Given the description of an element on the screen output the (x, y) to click on. 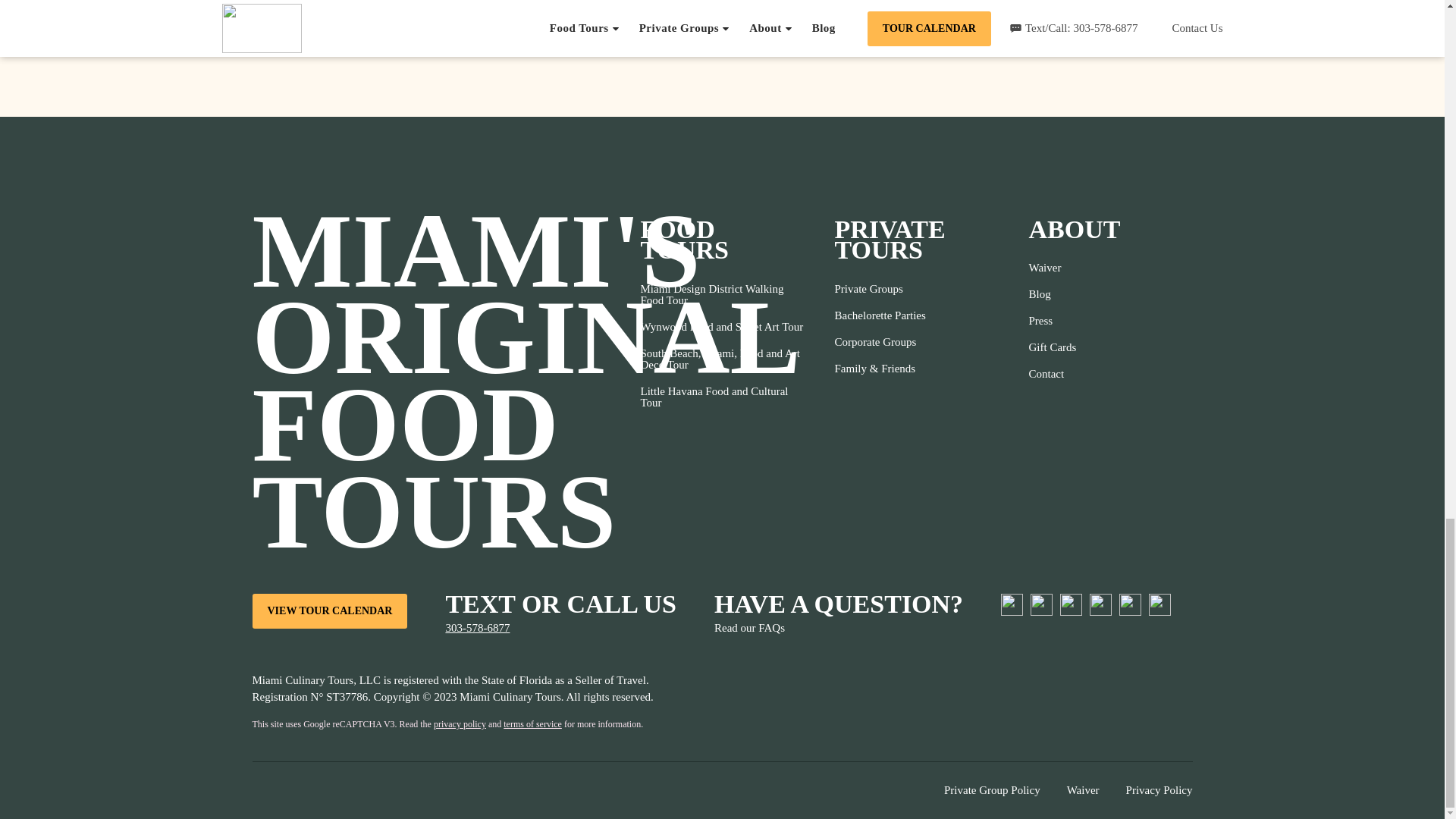
Contact (1051, 374)
Waiver (1051, 267)
Press (1051, 320)
Bachelorette Parties (879, 315)
South Beach, Miami, Food and Art Deco Tour (721, 359)
Gift Cards (1051, 347)
Blog (1051, 294)
Private Groups (879, 289)
Little Havana Food and Cultural Tour (721, 397)
Corporate Groups (879, 342)
